Given the description of an element on the screen output the (x, y) to click on. 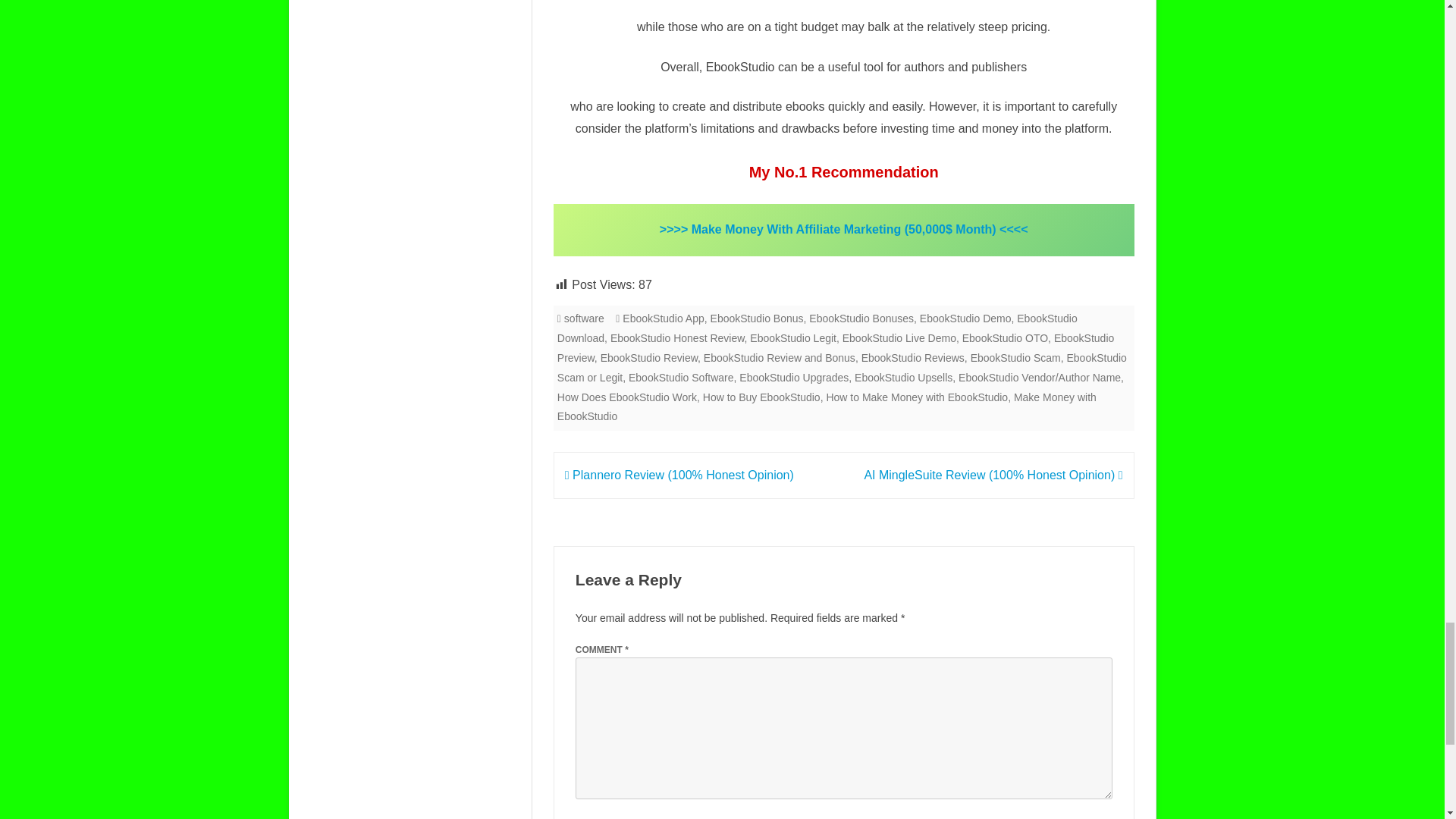
EbookStudio Bonuses (861, 318)
EbookStudio Download (817, 327)
EbookStudio App (663, 318)
EbookStudio Demo (965, 318)
EbookStudio Bonus (756, 318)
software (584, 318)
